Given the description of an element on the screen output the (x, y) to click on. 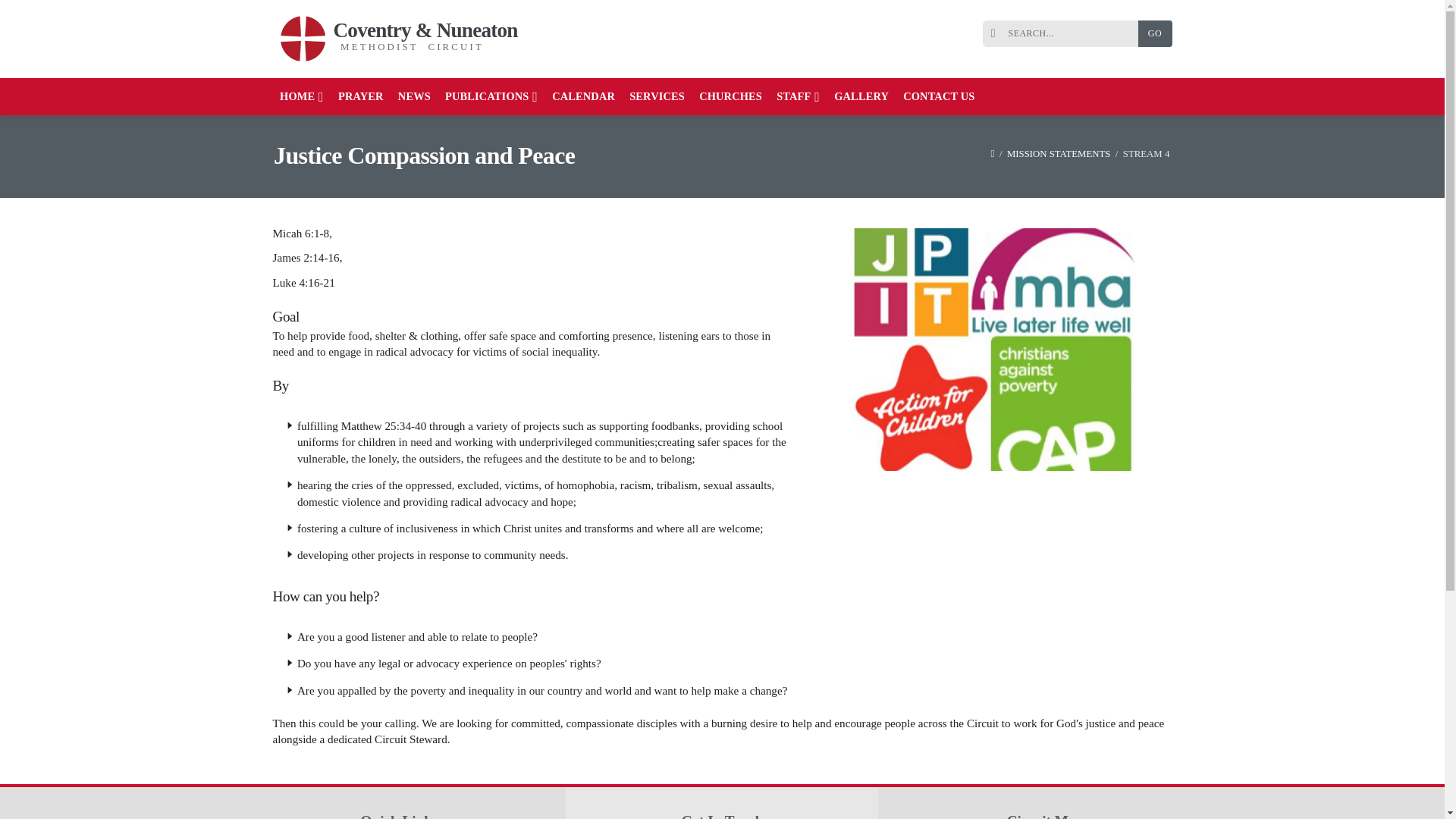
SERVICES (658, 96)
CONTACT US (938, 96)
PRAYER (360, 96)
MISSION STATEMENTS (1058, 153)
PUBLICATIONS (491, 96)
CHURCHES (731, 96)
STAFF (798, 96)
CALENDAR (583, 96)
GO (1154, 33)
GALLERY (861, 96)
